Given the description of an element on the screen output the (x, y) to click on. 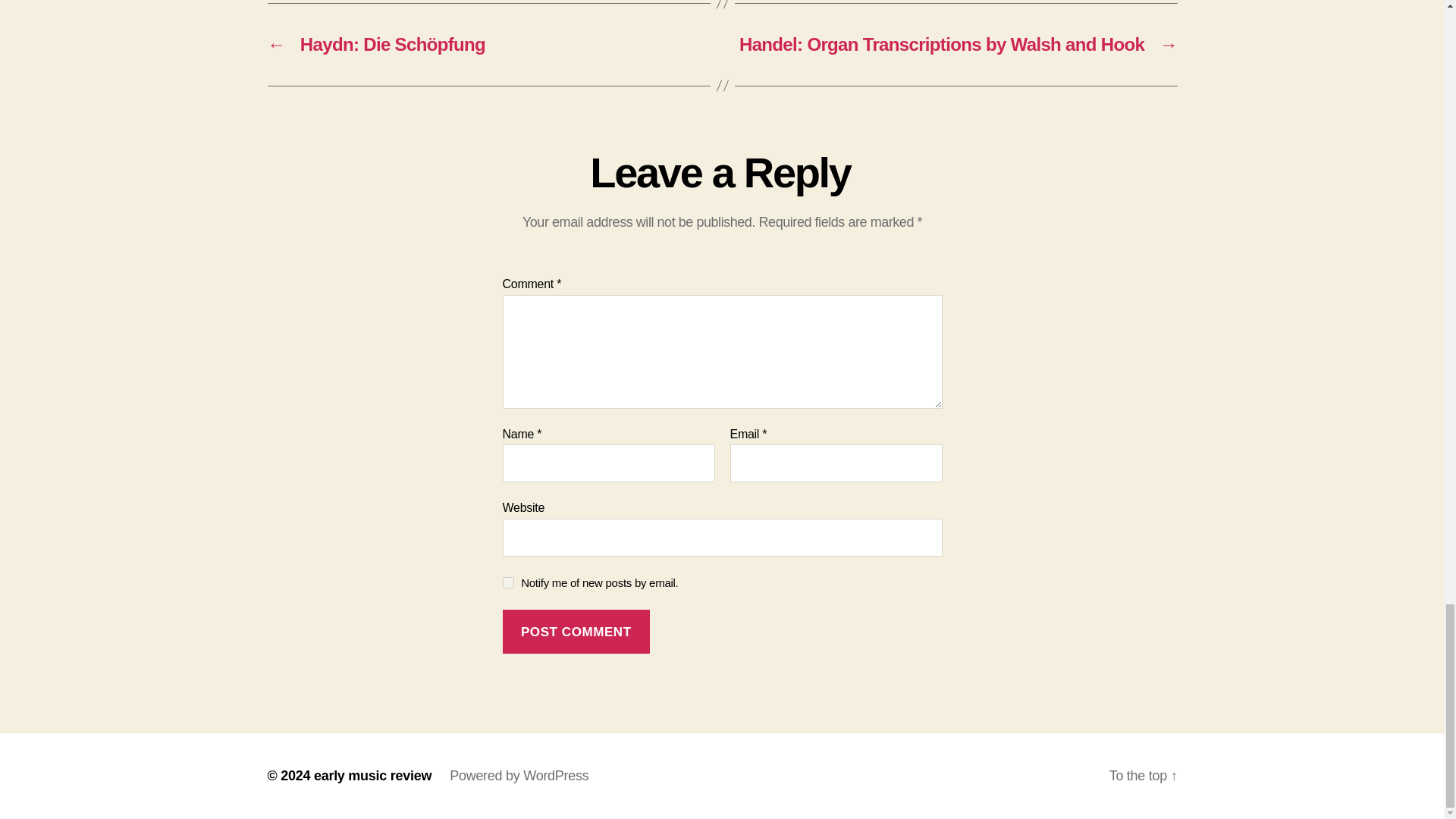
subscribe (507, 582)
early music review (372, 775)
Post Comment (575, 631)
Powered by WordPress (518, 775)
Post Comment (575, 631)
